Given the description of an element on the screen output the (x, y) to click on. 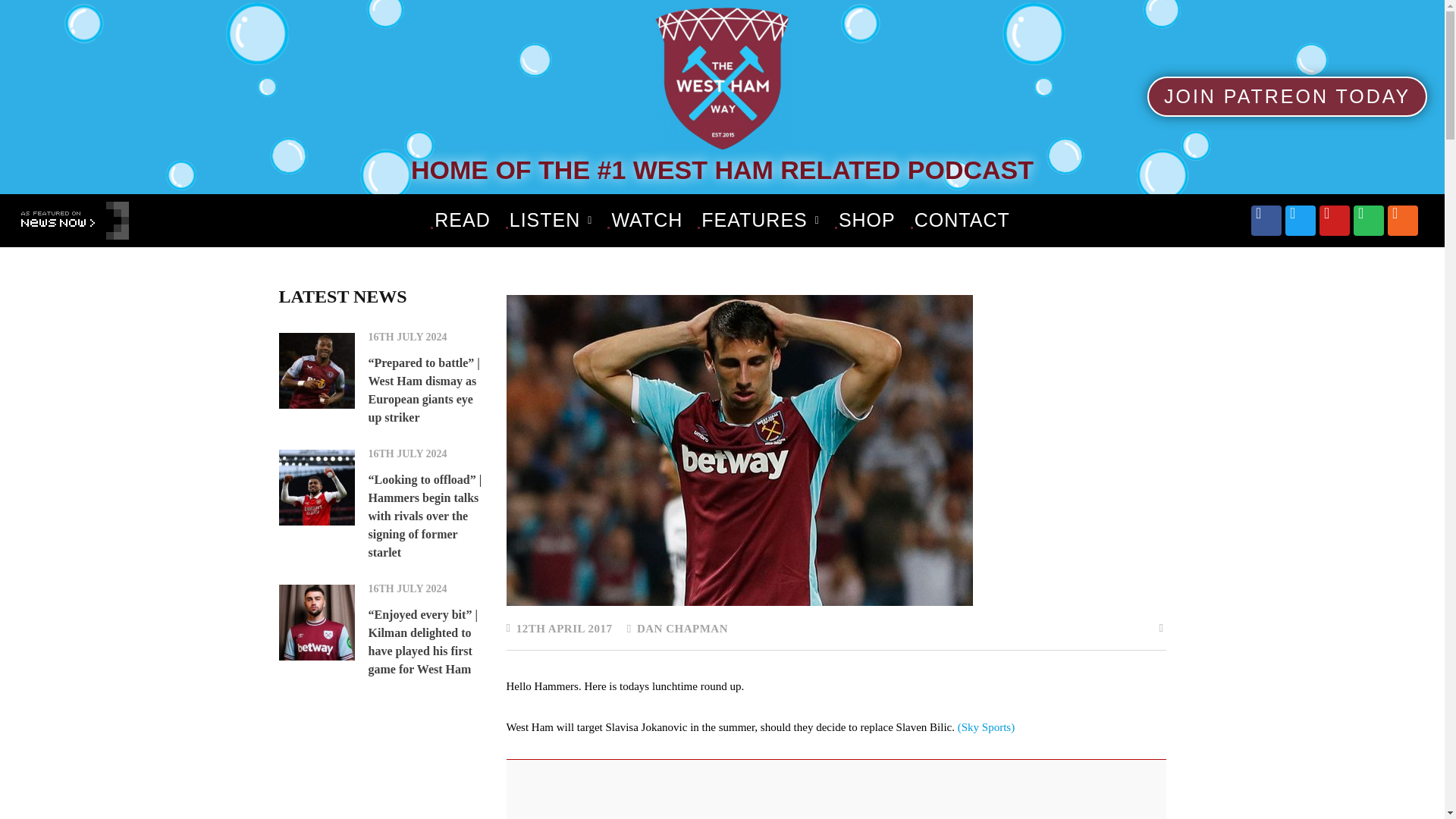
READ (461, 219)
LISTEN (550, 219)
SHOP (866, 219)
FEATURES (760, 219)
WATCH (646, 219)
JOIN PATREON TODAY (1286, 96)
CONTACT (962, 219)
